Given the description of an element on the screen output the (x, y) to click on. 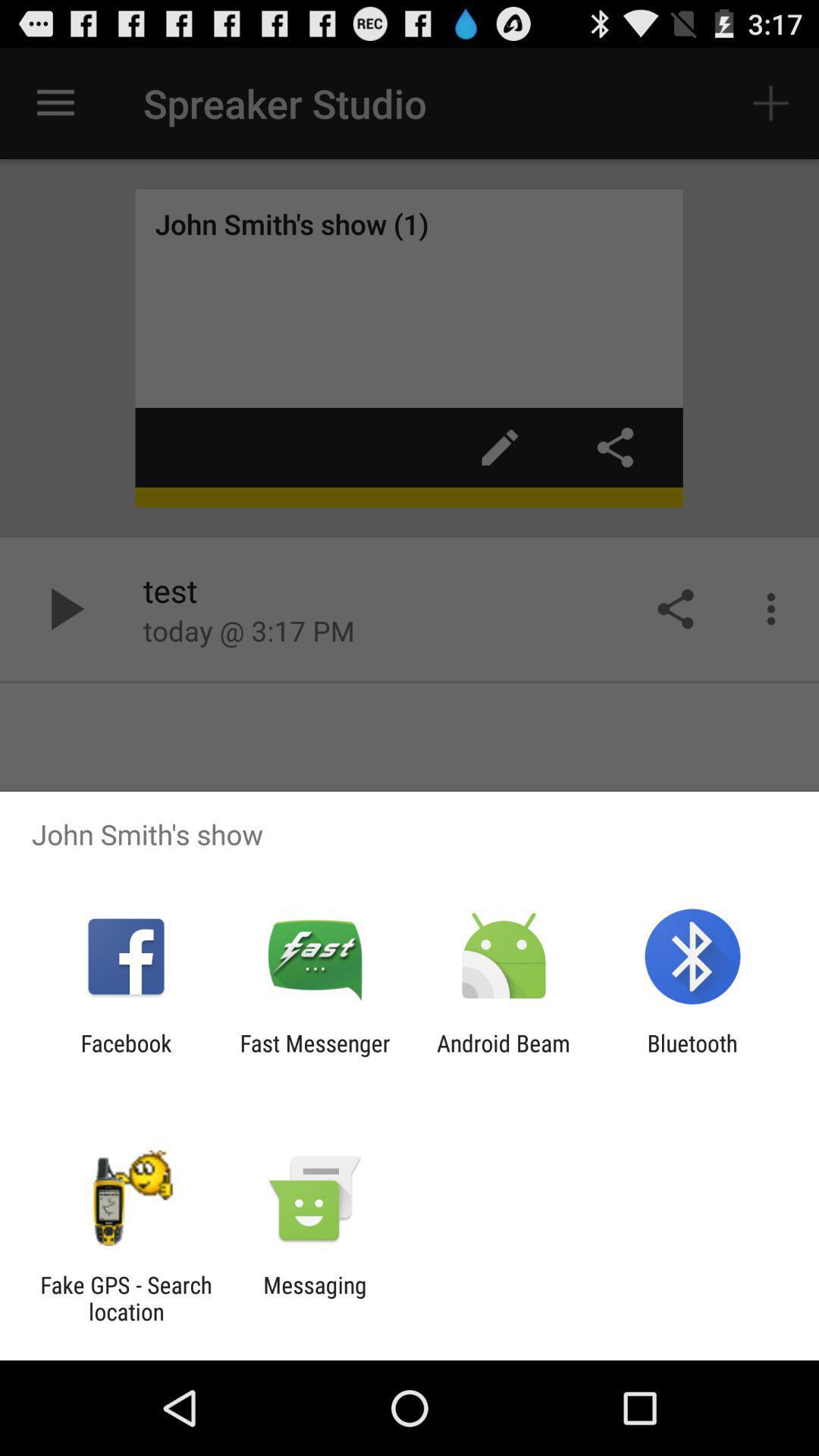
swipe to android beam app (503, 1056)
